Given the description of an element on the screen output the (x, y) to click on. 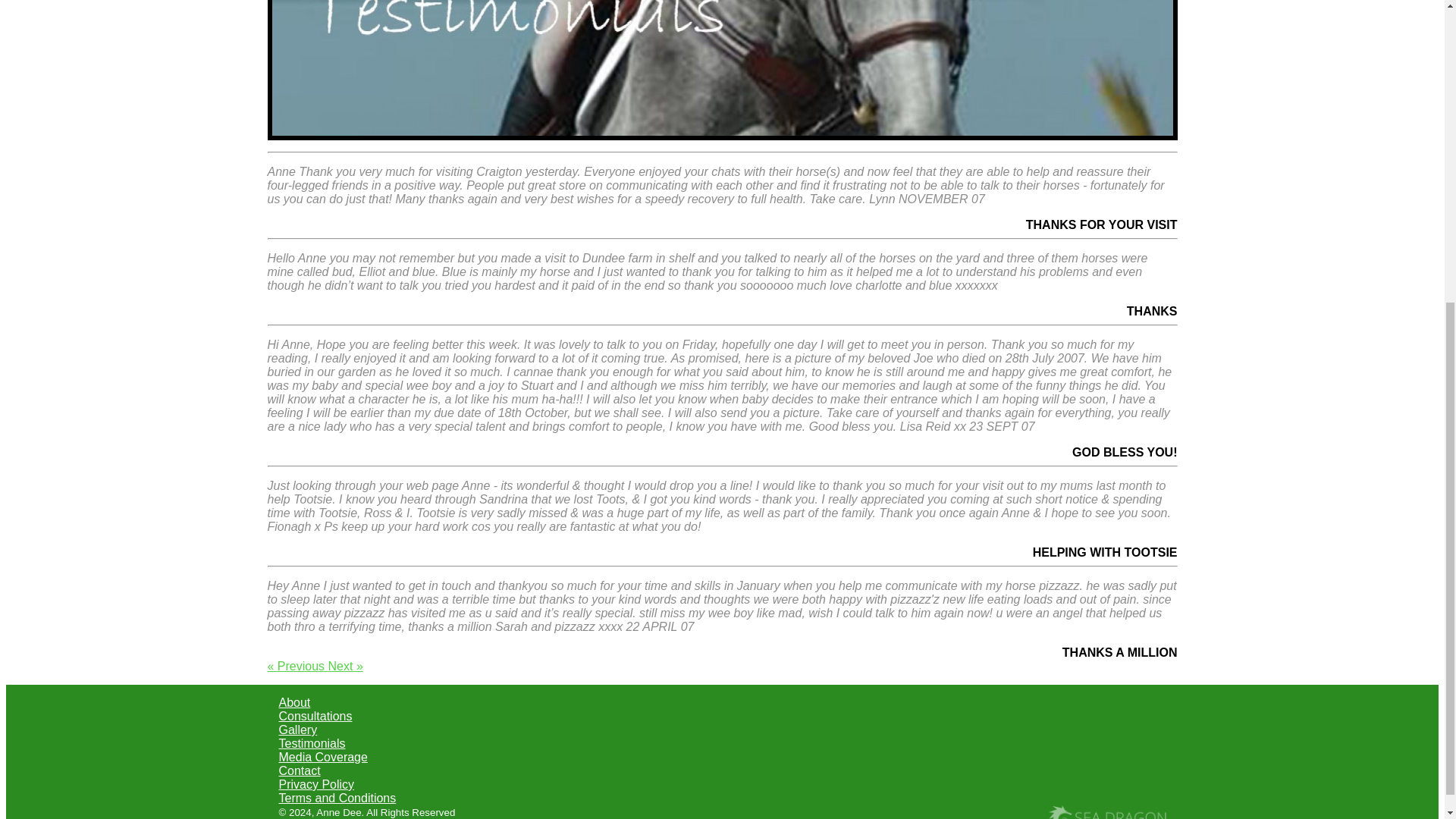
Privacy Policy (317, 784)
Terms and Conditions (337, 797)
Gallery (298, 729)
Testimonials (312, 743)
Consultations (315, 716)
About (295, 702)
Contact (299, 770)
Media Coverage (323, 757)
